Given the description of an element on the screen output the (x, y) to click on. 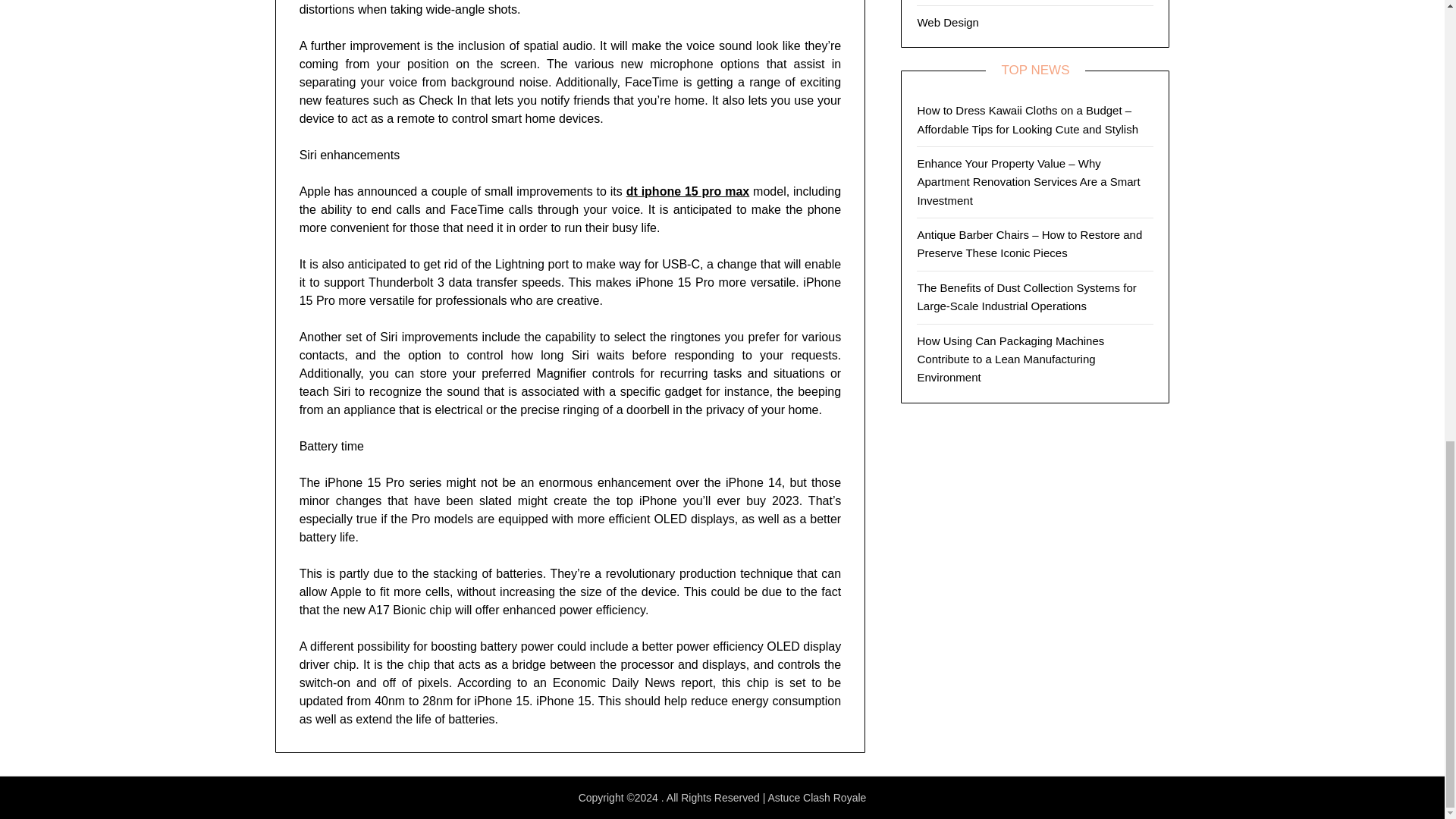
dt iphone 15 pro max (687, 191)
Web Design (947, 21)
